Given the description of an element on the screen output the (x, y) to click on. 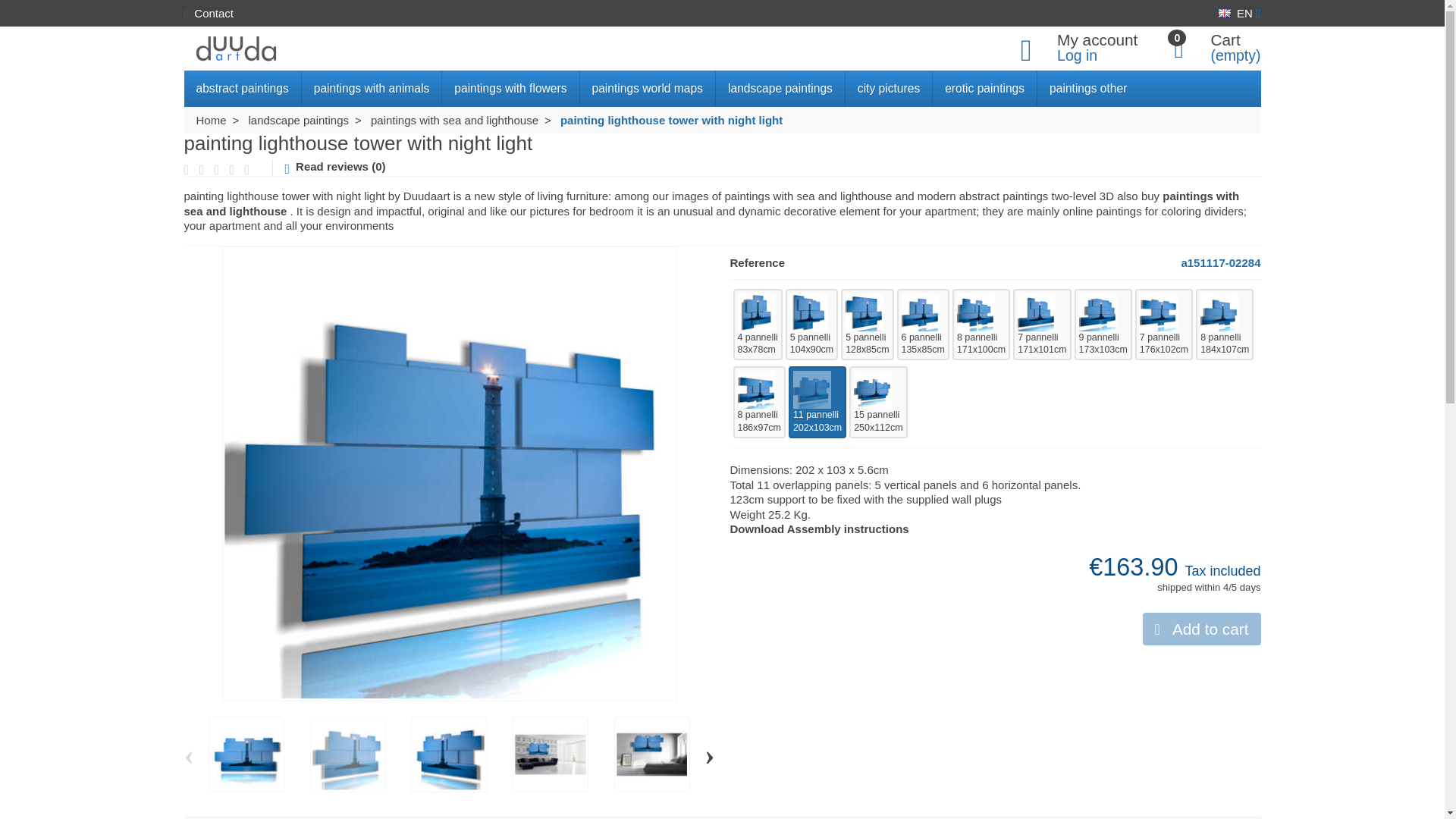
paintings world maps (647, 88)
landscape paintings (780, 88)
abstract paintings (242, 88)
paintings with animals (371, 88)
abstract paintings (242, 88)
paintings with animals (371, 88)
paintings with flowers (510, 88)
Duudaart (236, 48)
